Given the description of an element on the screen output the (x, y) to click on. 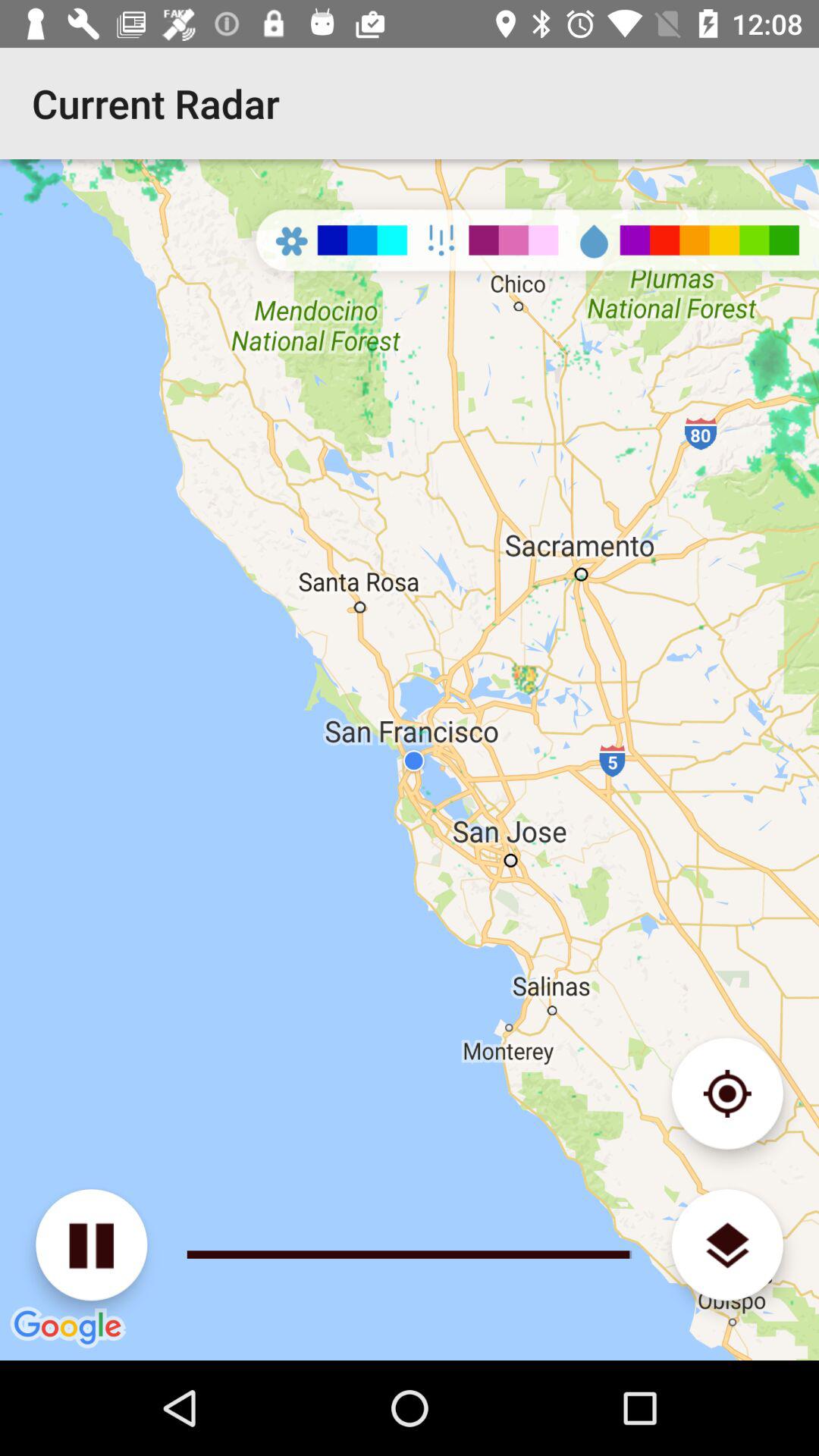
change map type (727, 1244)
